Given the description of an element on the screen output the (x, y) to click on. 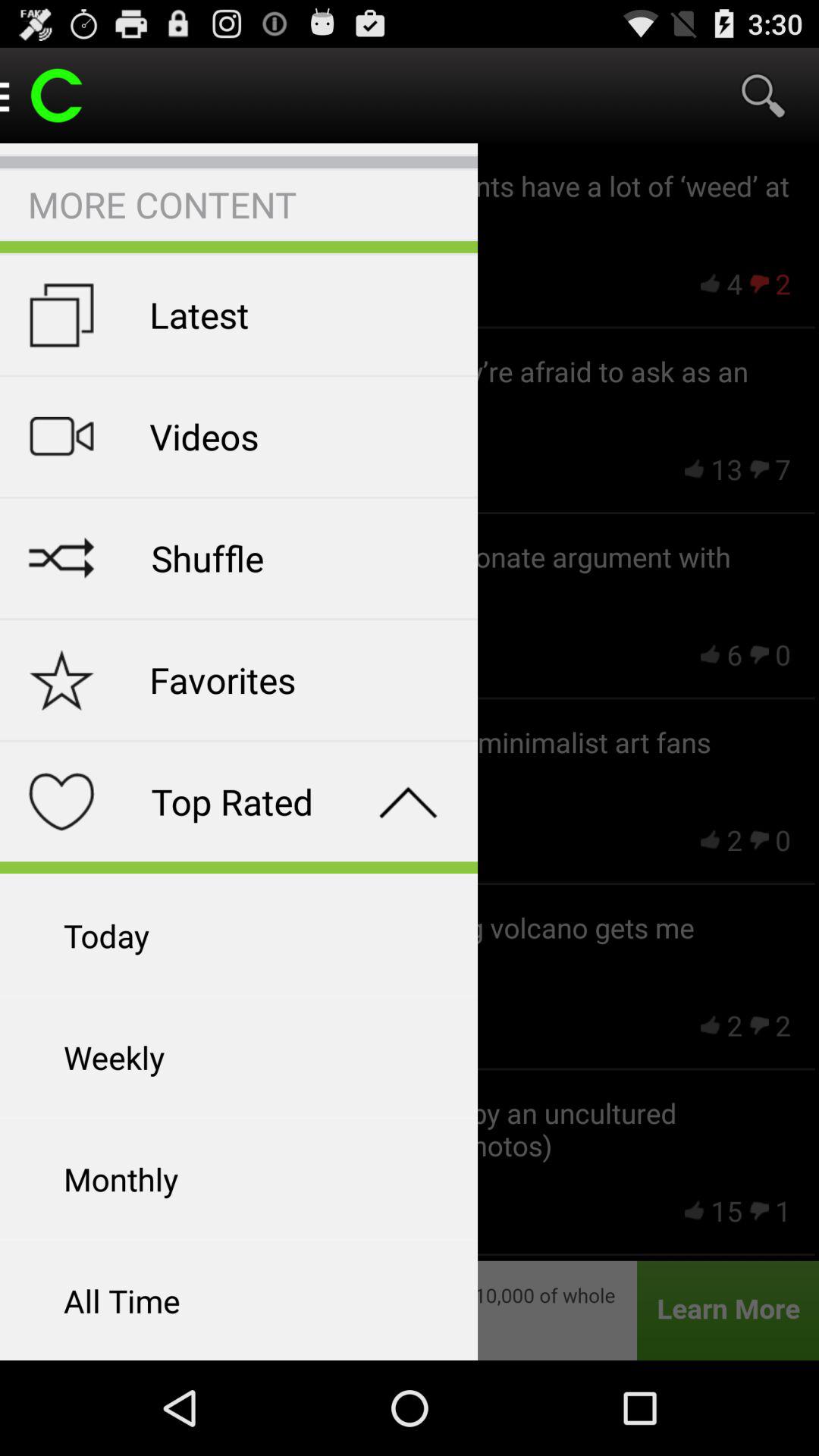
go to likes icon at 4th line (710, 839)
click on the symbol which is beside number 7 (759, 468)
click the like button which is infront of the number 13 (694, 468)
select the red coloured dislike button on the top right hand side (759, 283)
